Given the description of an element on the screen output the (x, y) to click on. 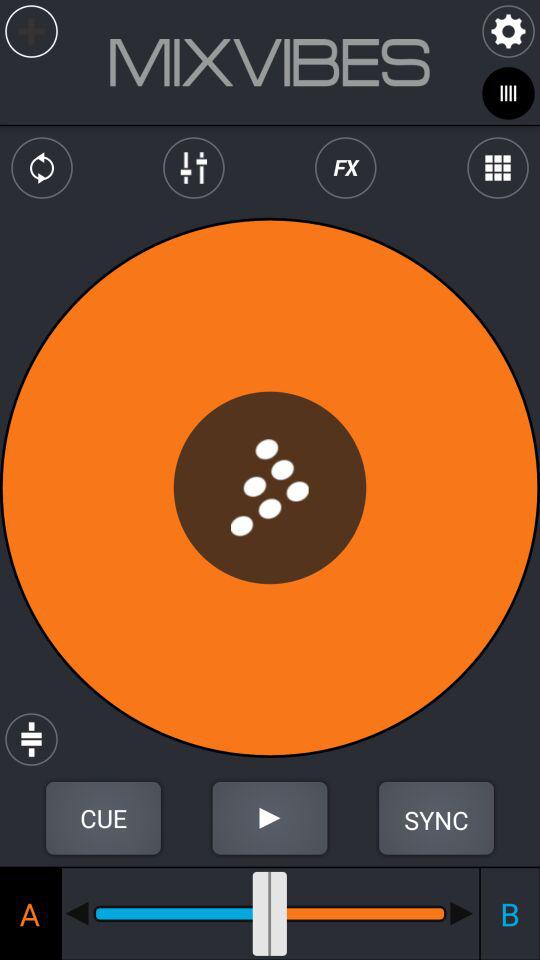
move slider left (77, 913)
